Given the description of an element on the screen output the (x, y) to click on. 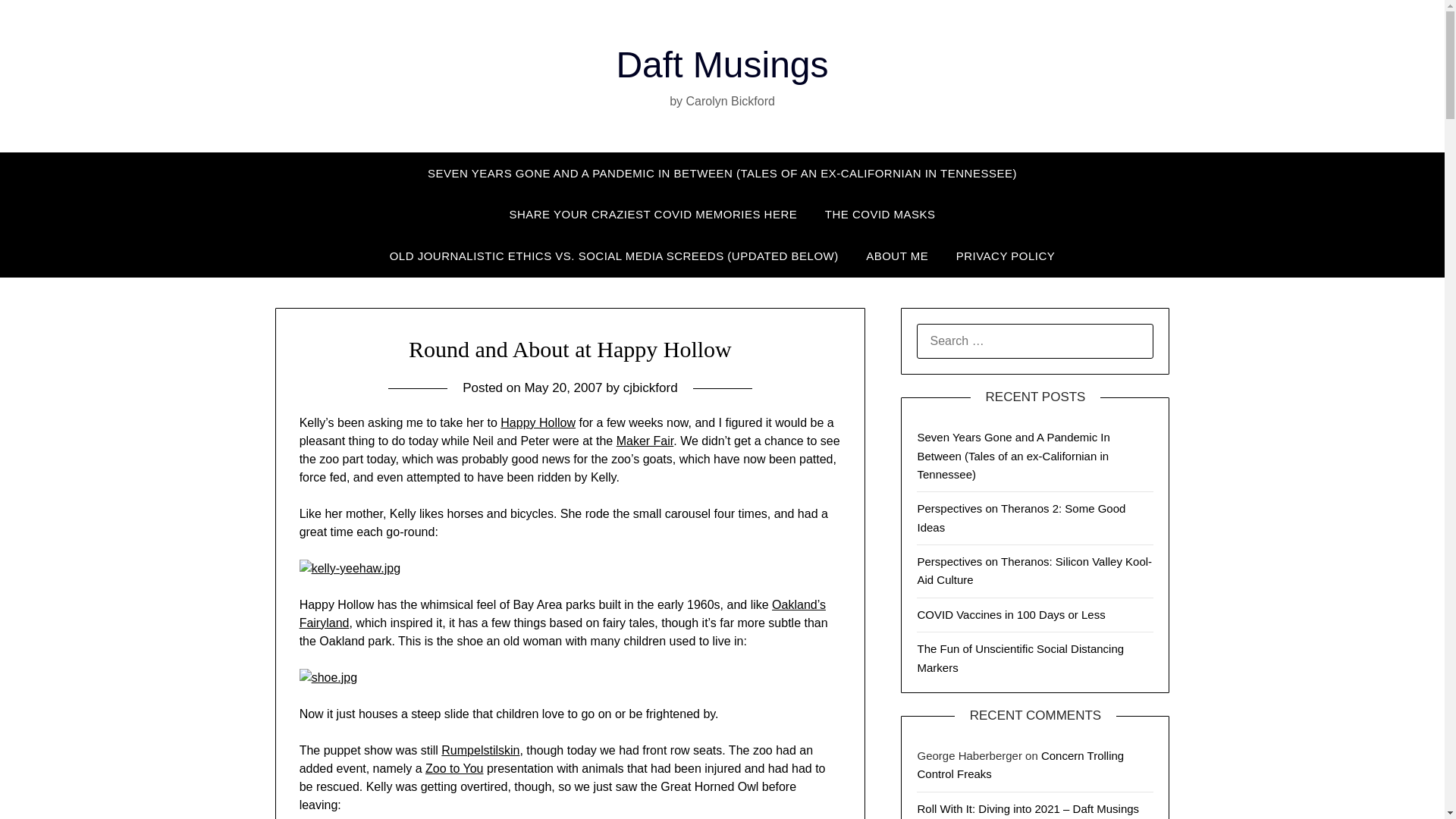
ABOUT ME (896, 255)
The Fun of Unscientific Social Distancing Markers (1020, 657)
Rumpelstilskin (480, 749)
COVID Vaccines in 100 Days or Less (1011, 614)
Happy Hollow (537, 422)
Search (38, 22)
shoe.jpg (328, 676)
Zoo to You (454, 768)
Concern Trolling Control Freaks (1020, 764)
Perspectives on Theranos: Silicon Valley Kool-Aid Culture (1034, 570)
